Given the description of an element on the screen output the (x, y) to click on. 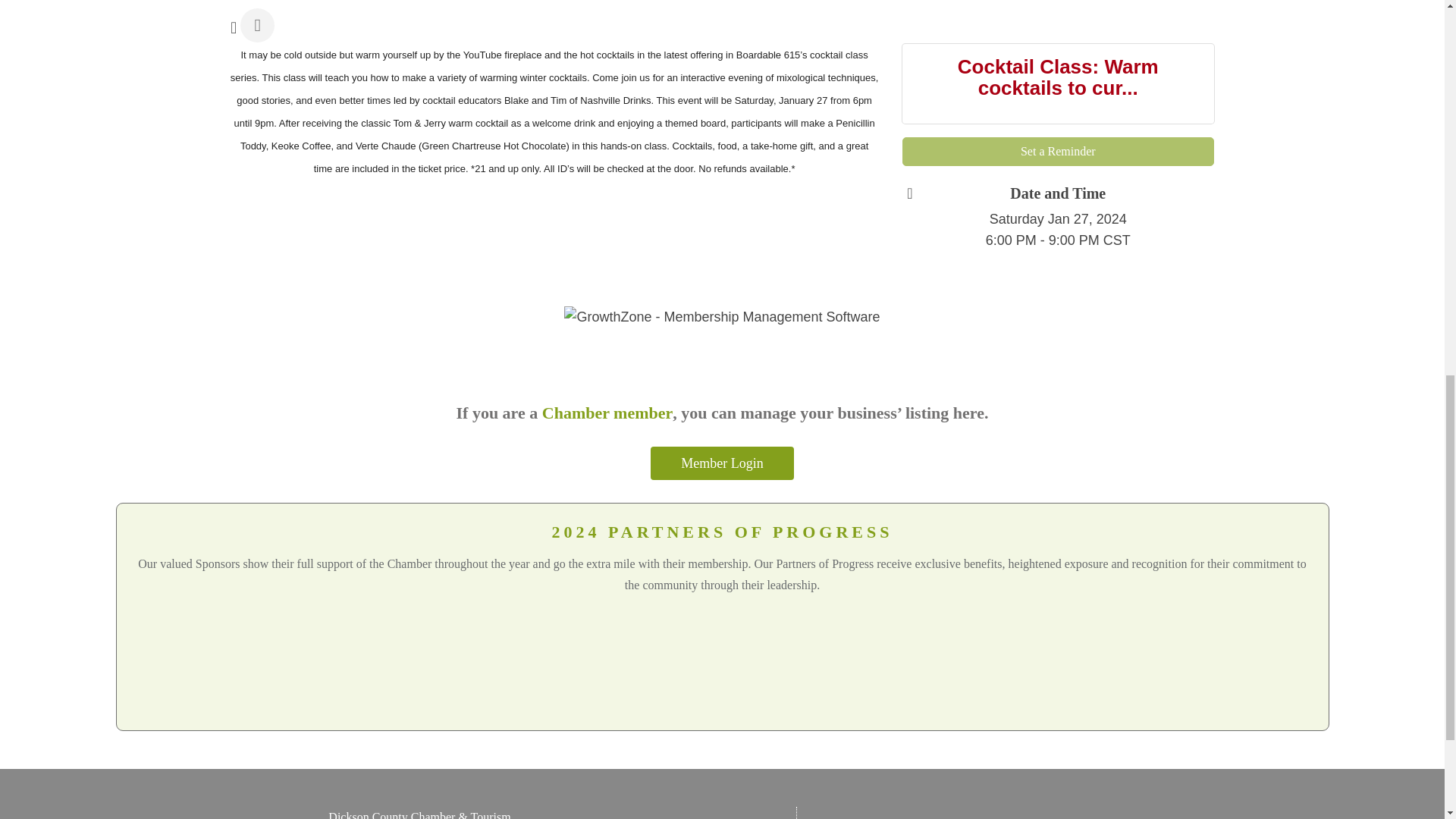
Set a Reminder (1058, 151)
